Given the description of an element on the screen output the (x, y) to click on. 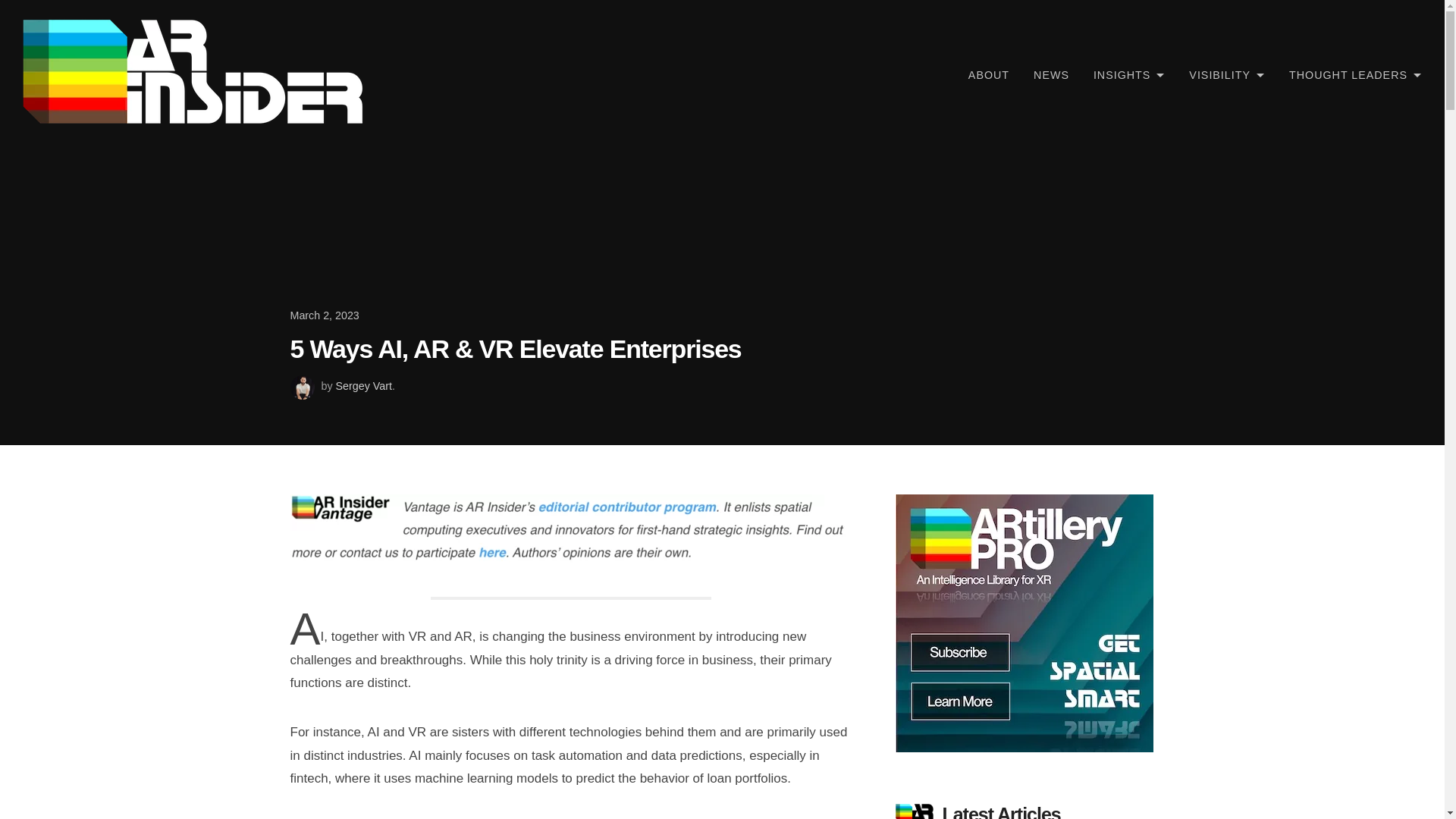
NEWS (1051, 74)
March 2, 2023 (721, 315)
THOUGHT LEADERS (1355, 74)
VISIBILITY (1226, 74)
ABOUT (989, 74)
INSIGHTS (1128, 74)
Sergey Vart (363, 386)
